Given the description of an element on the screen output the (x, y) to click on. 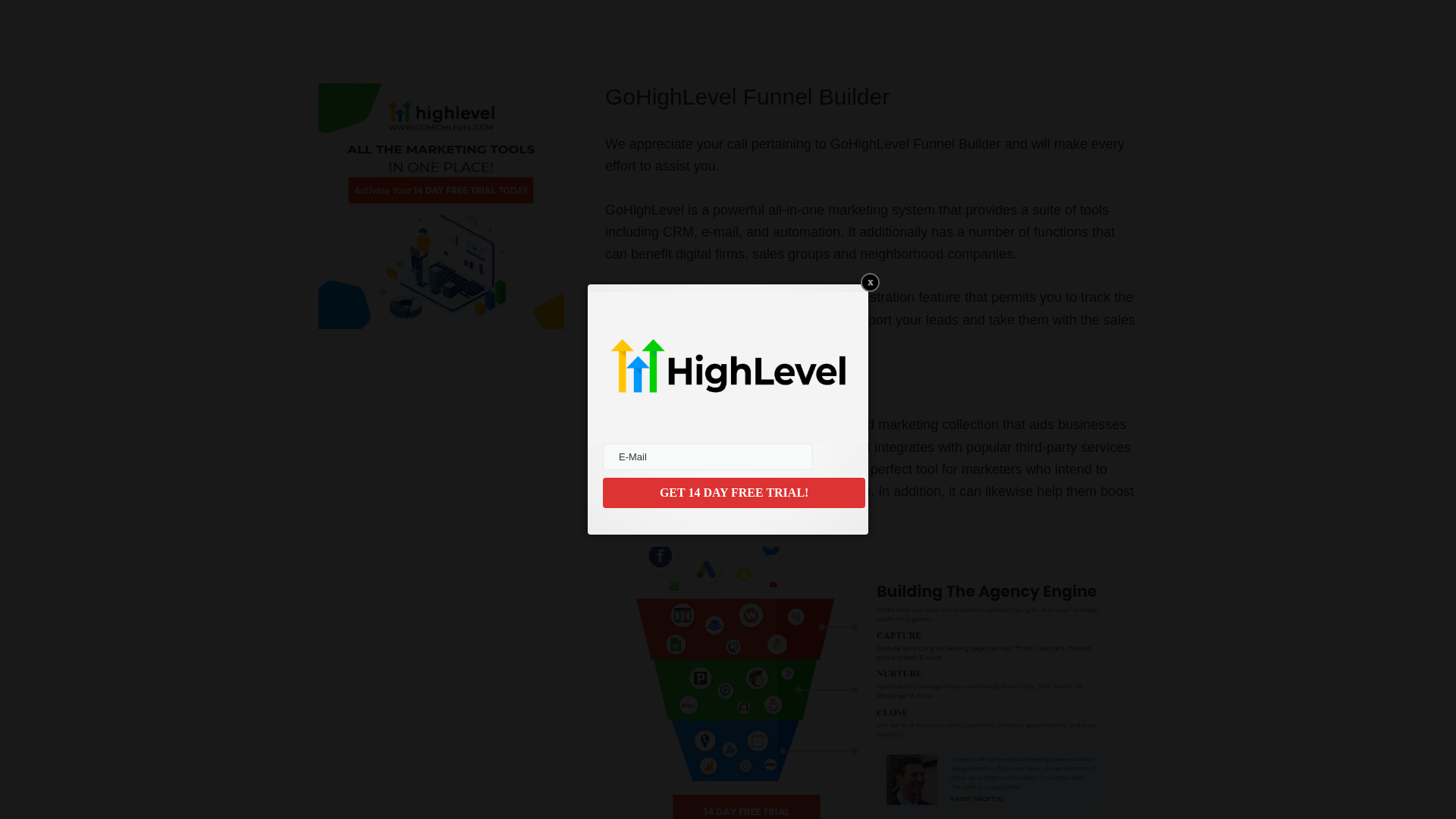
GET 14 DAY FREE TRIAL! (733, 492)
GET 14 DAY FREE TRIAL! (733, 492)
